Given the description of an element on the screen output the (x, y) to click on. 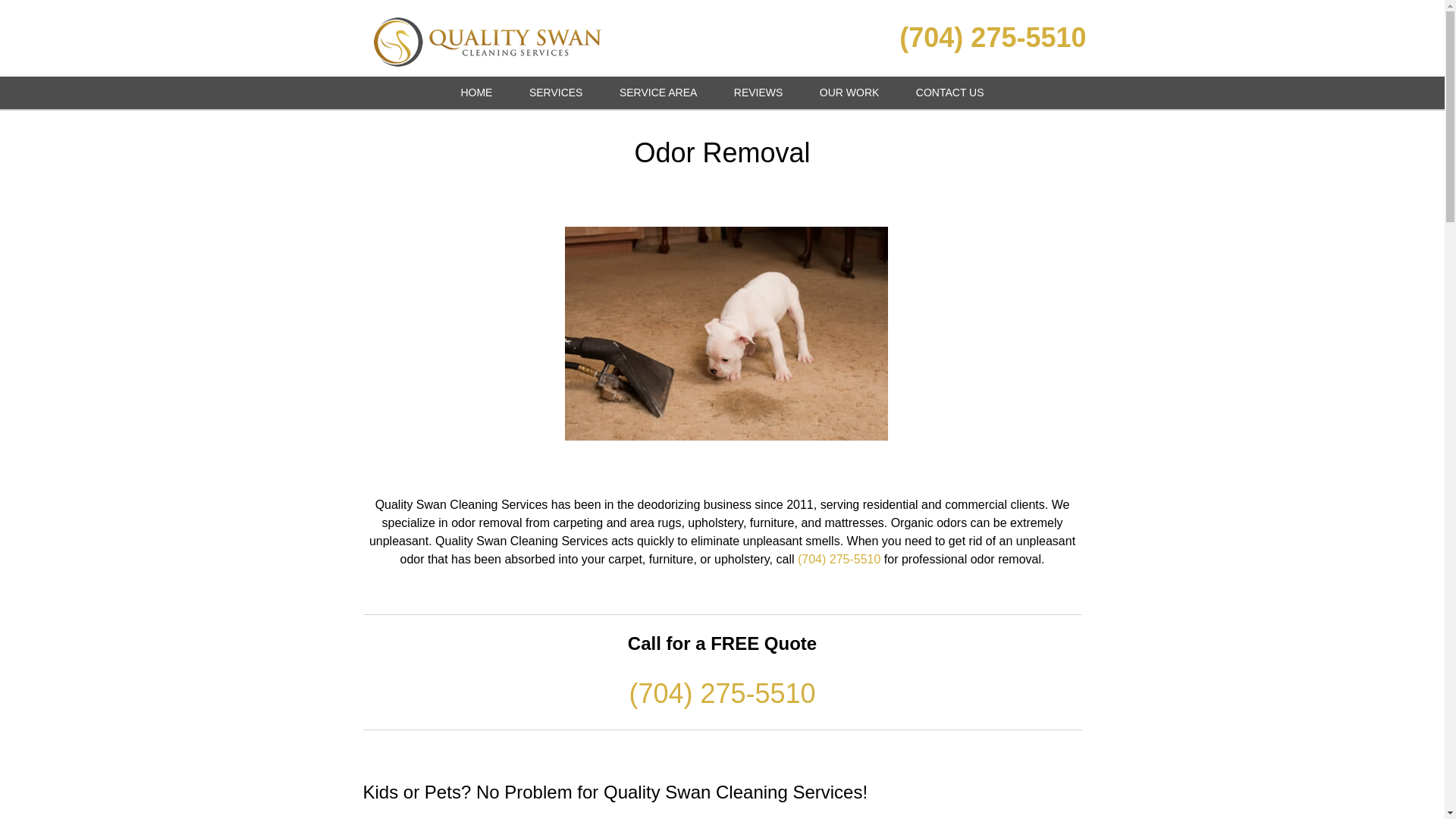
SERVICE AREA (657, 92)
REVIEWS (758, 92)
OUR WORK (849, 92)
HOME (476, 92)
CONTACT US (950, 92)
SERVICES (555, 92)
